Given the description of an element on the screen output the (x, y) to click on. 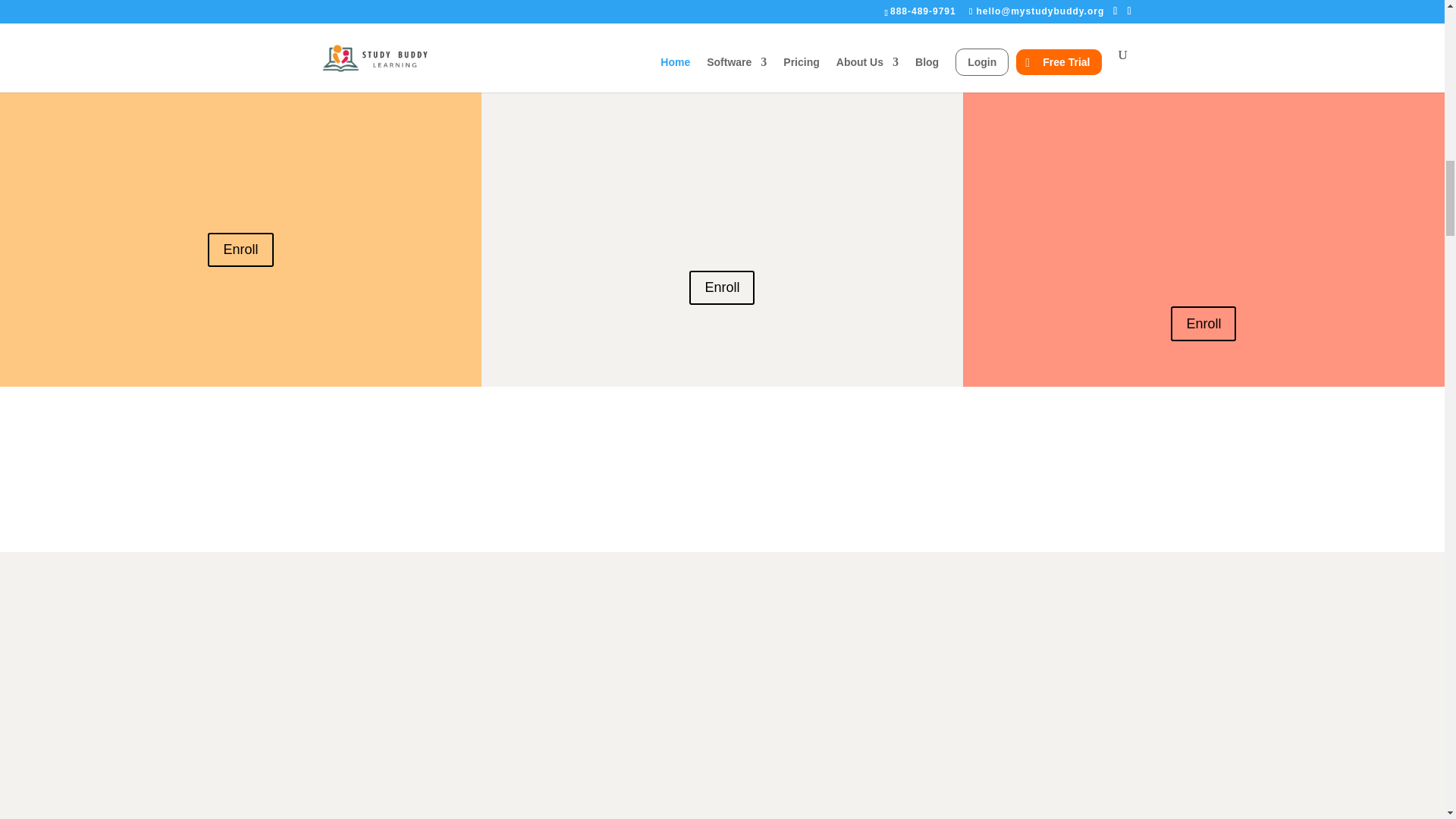
Enroll (1203, 323)
Enroll (721, 287)
Enroll (240, 249)
